Given the description of an element on the screen output the (x, y) to click on. 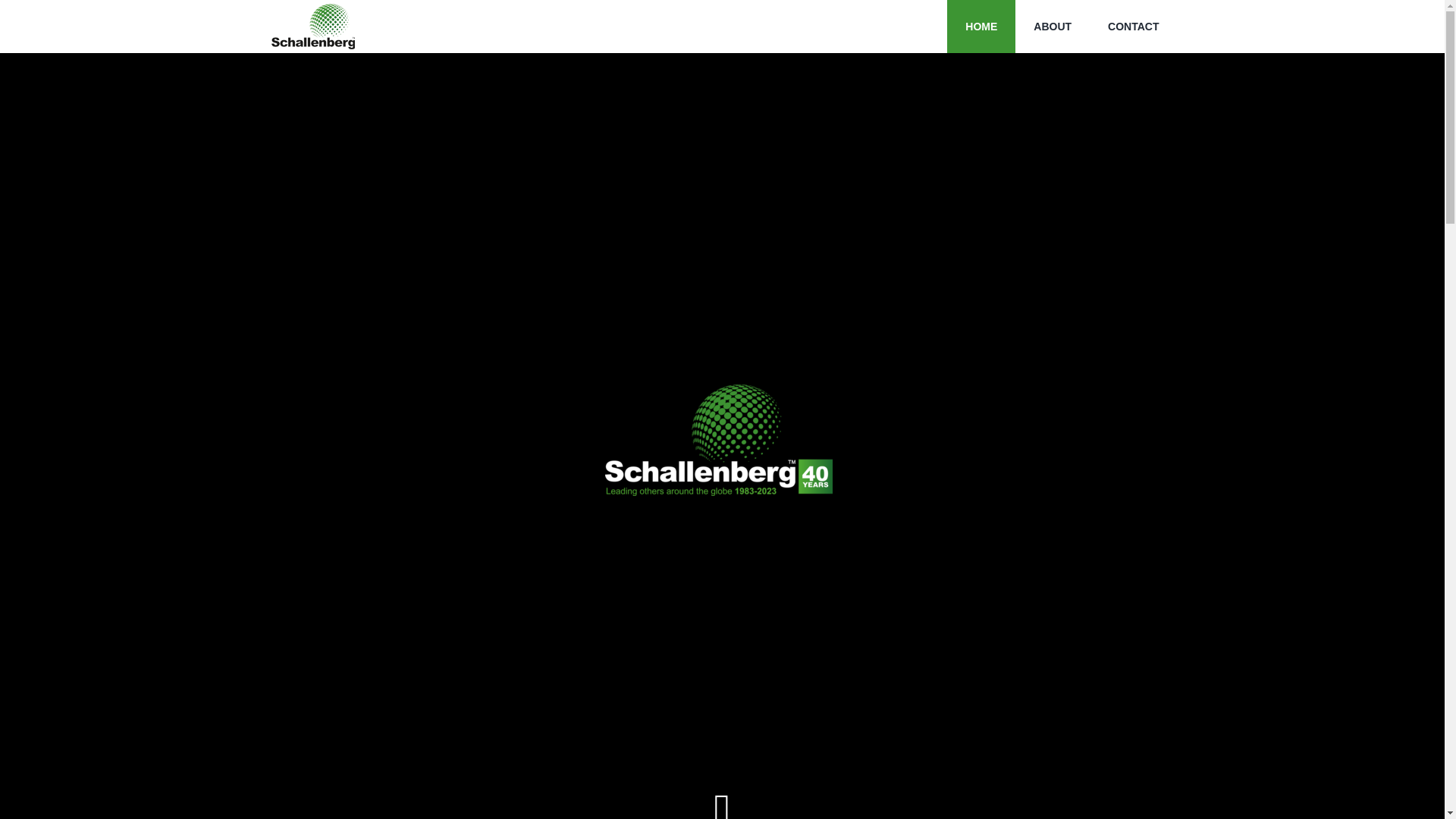
HOME (980, 26)
CONTACT (1132, 26)
ABOUT (1051, 26)
